Given the description of an element on the screen output the (x, y) to click on. 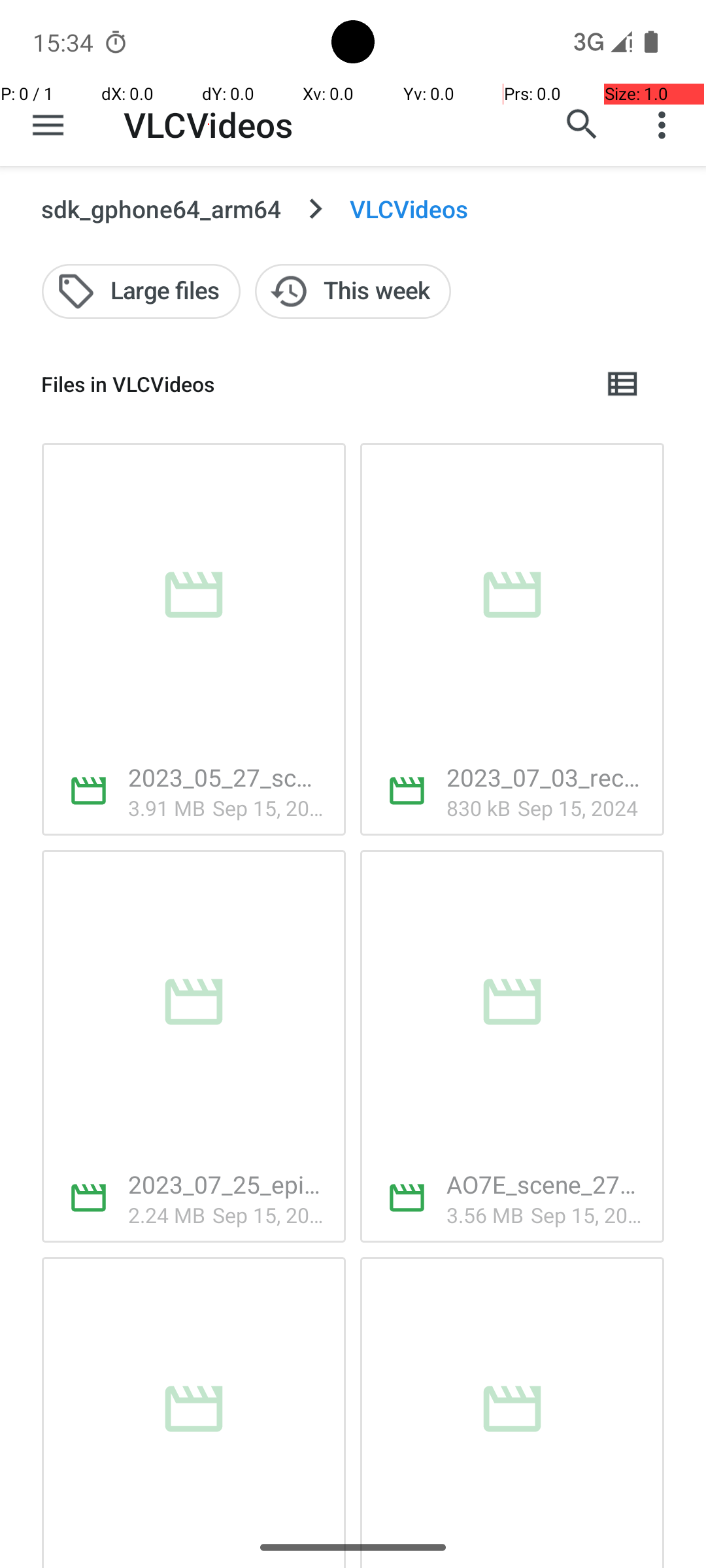
Files in VLCVideos Element type: android.widget.TextView (311, 383)
2023_05_27_scene_9_.mp4 Element type: android.widget.TextView (226, 776)
3.91 MB Element type: android.widget.TextView (166, 807)
Sep 15, 2024 Element type: android.widget.TextView (268, 807)
2023_07_03_recording_27_export.mp4 Element type: android.widget.TextView (544, 776)
830 kB Element type: android.widget.TextView (478, 807)
2023_07_25_episode_85_.mp4 Element type: android.widget.TextView (226, 1183)
2.24 MB Element type: android.widget.TextView (166, 1214)
AO7E_scene_27_.mp4 Element type: android.widget.TextView (544, 1183)
3.56 MB Element type: android.widget.TextView (484, 1214)
